Given the description of an element on the screen output the (x, y) to click on. 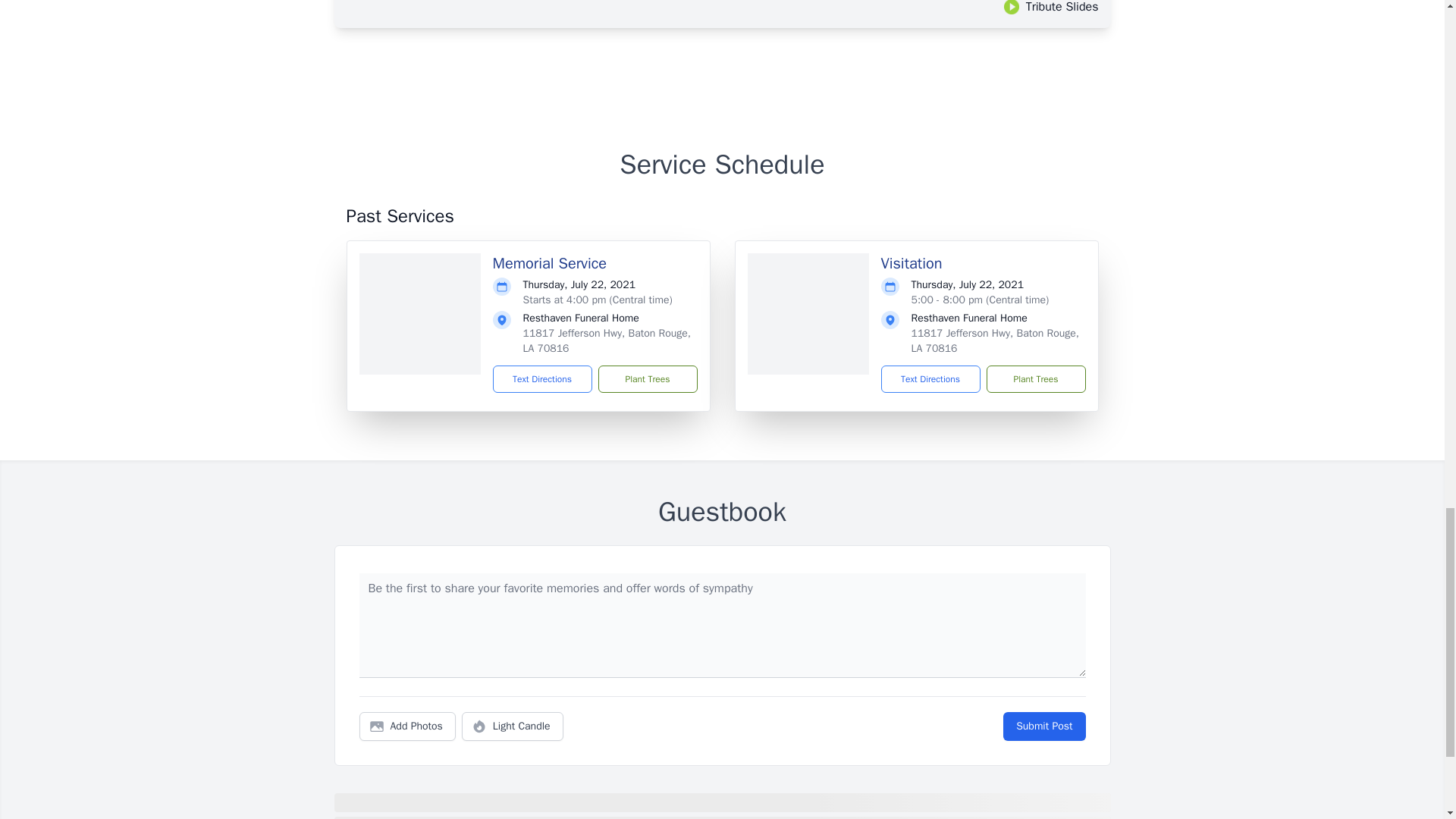
Text Directions (542, 379)
Text Directions (929, 379)
11817 Jefferson Hwy, Baton Rouge, LA 70816 (995, 340)
Light Candle (512, 726)
Submit Post (1043, 726)
Plant Trees (1034, 379)
11817 Jefferson Hwy, Baton Rouge, LA 70816 (606, 340)
Add Photos (407, 726)
Plant Trees (646, 379)
